Given the description of an element on the screen output the (x, y) to click on. 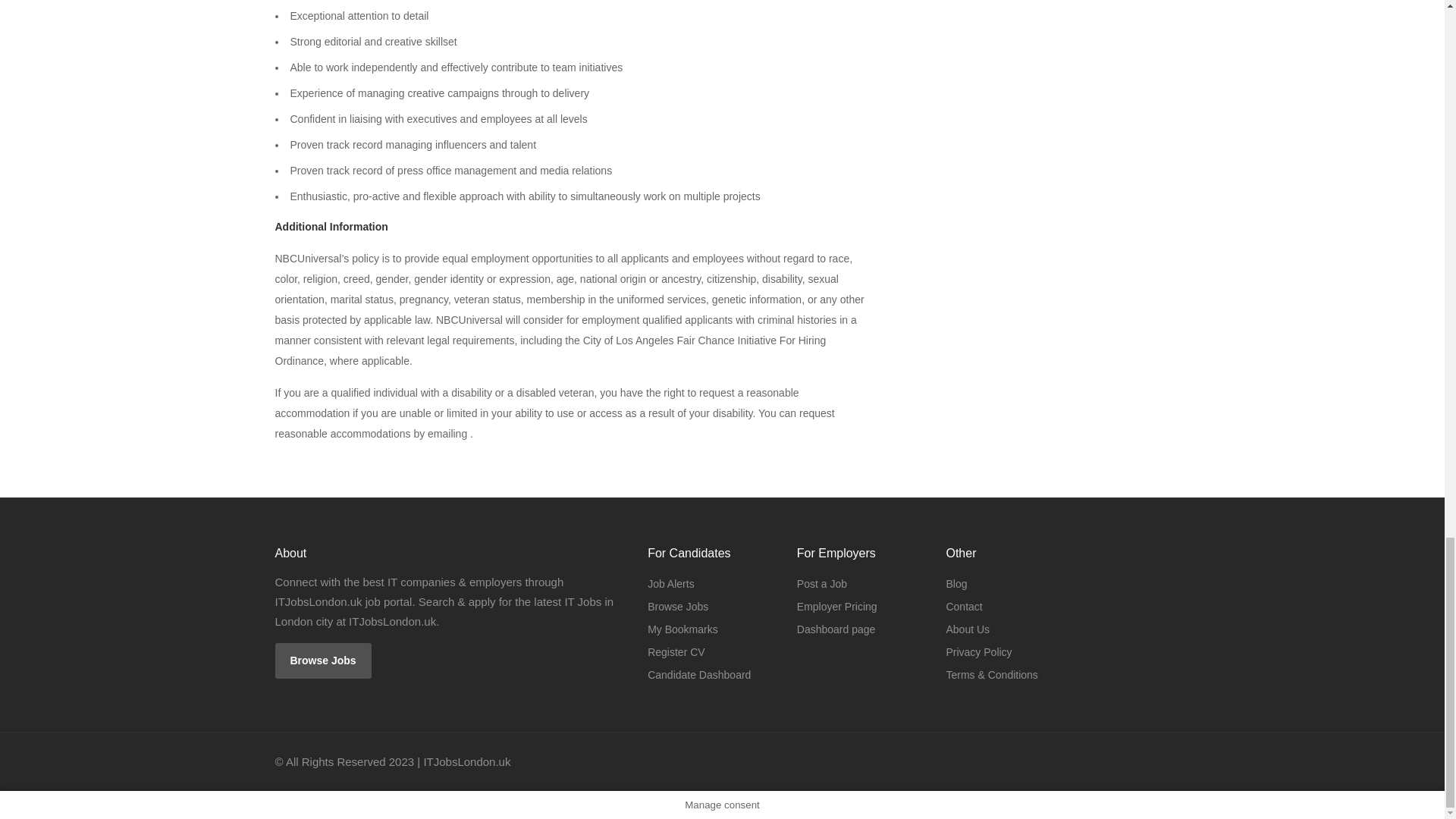
Contact (962, 606)
Employer Pricing (836, 606)
Browse Jobs (323, 660)
Dashboard page (836, 629)
Privacy Policy (977, 651)
Blog (955, 583)
Browse Jobs (677, 606)
Job Alerts (670, 583)
Post a Job (821, 583)
About Us (967, 629)
My Bookmarks (682, 629)
Register CV (675, 651)
Candidate Dashboard (699, 674)
